Given the description of an element on the screen output the (x, y) to click on. 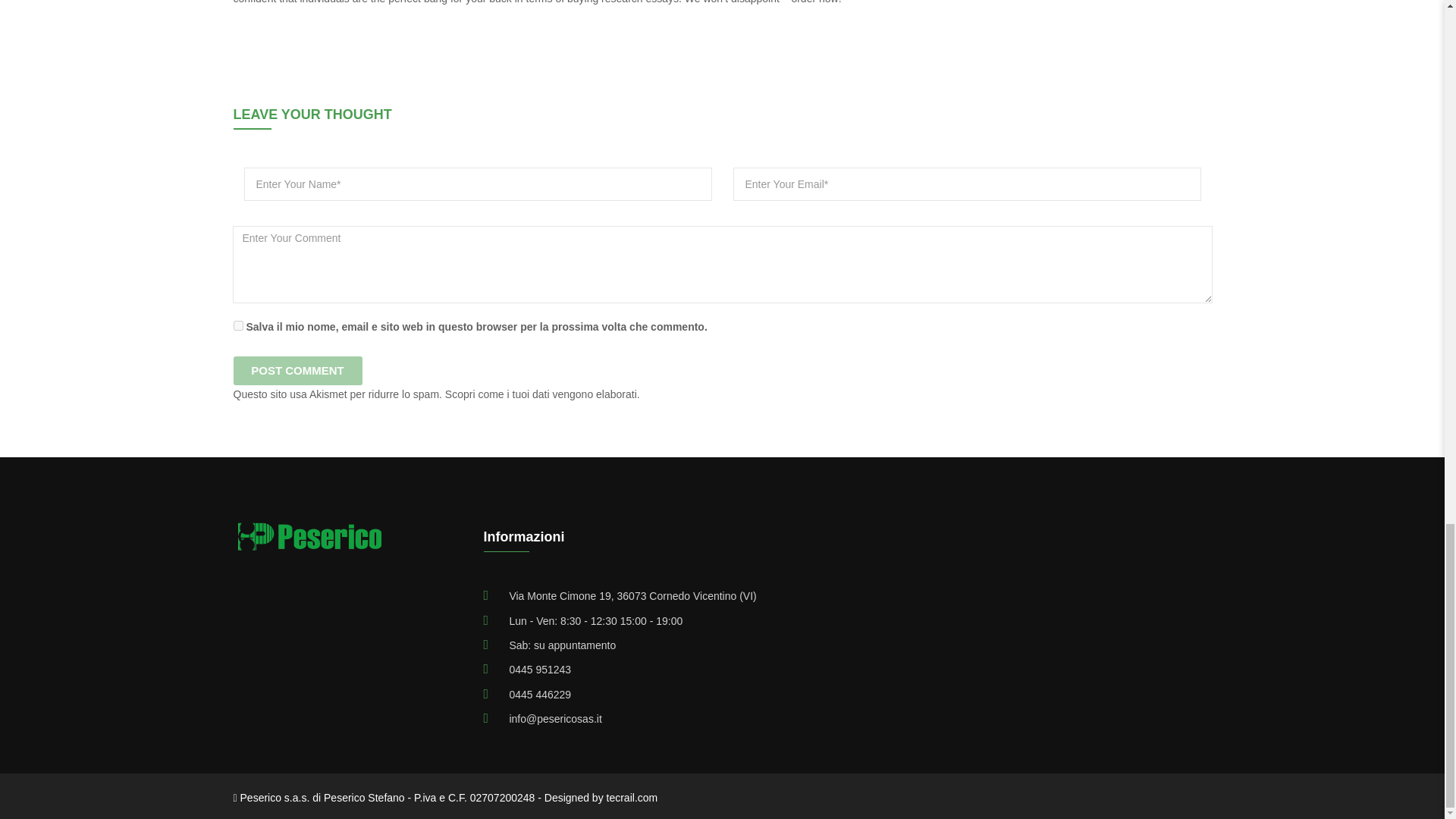
Post Comment (297, 370)
logo-retina (308, 536)
yes (237, 325)
